Given the description of an element on the screen output the (x, y) to click on. 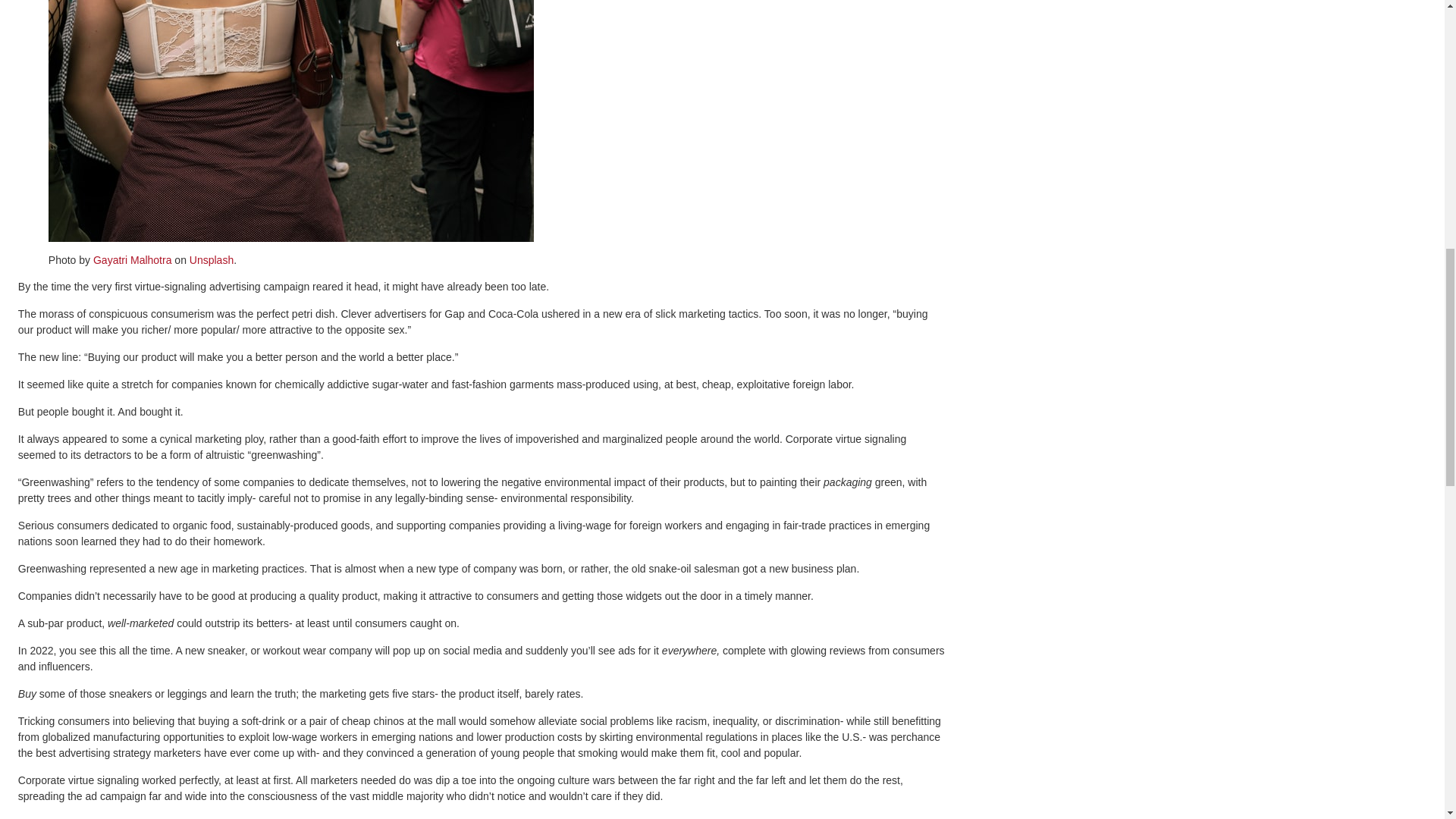
Unsplash (210, 259)
Gayatri Malhotra (132, 259)
